Given the description of an element on the screen output the (x, y) to click on. 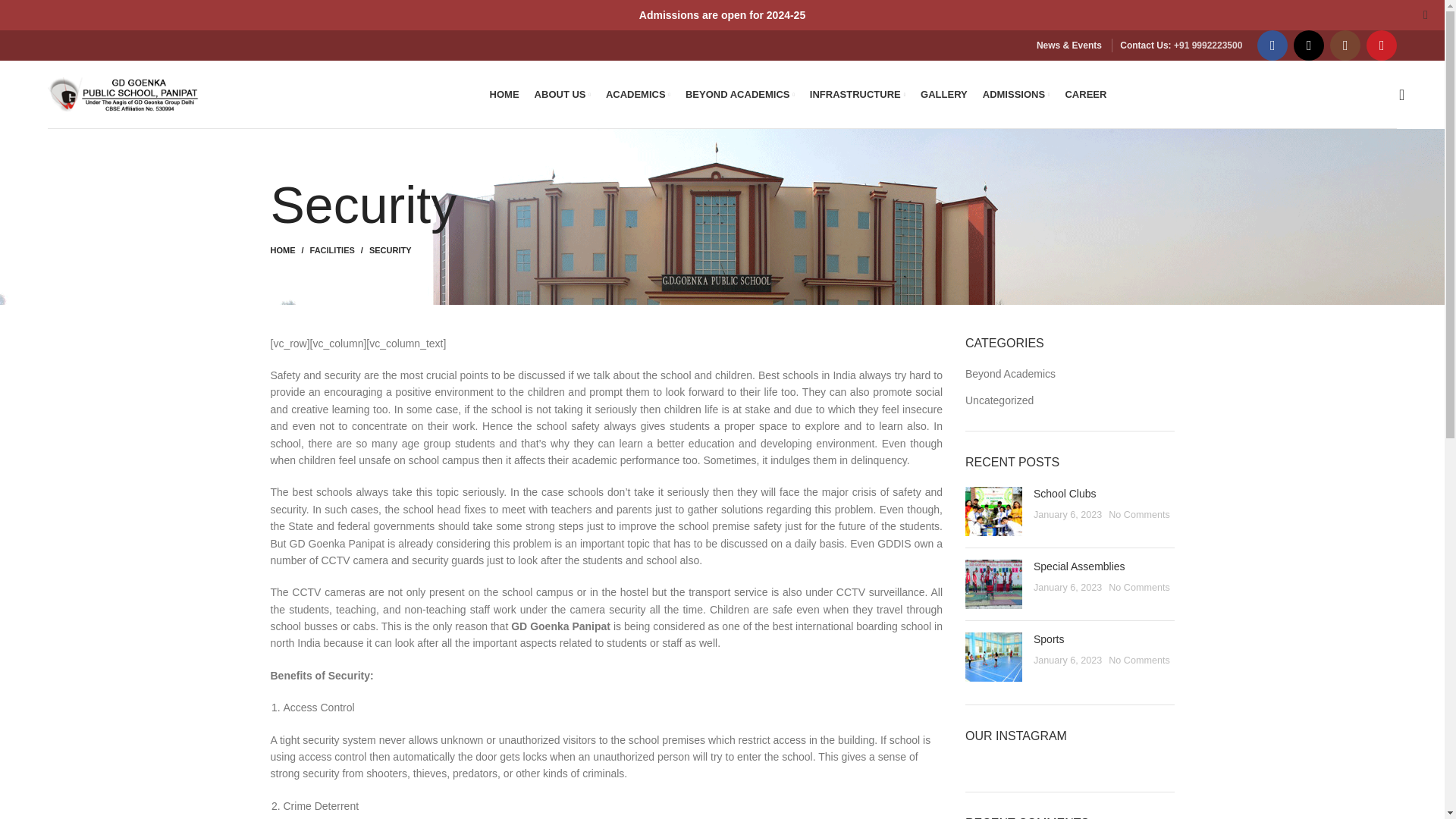
Permalink to School Clubs (1064, 493)
ABOUT US (562, 93)
ADMISSIONS (1015, 93)
Permalink to Sports (1048, 639)
Permalink to Special Assemblies (1079, 566)
BEYOND ACADEMICS (739, 93)
INFRASTRUCTURE (857, 93)
ACADEMICS (637, 93)
HOME (504, 93)
Contact Us: (1144, 45)
